Given the description of an element on the screen output the (x, y) to click on. 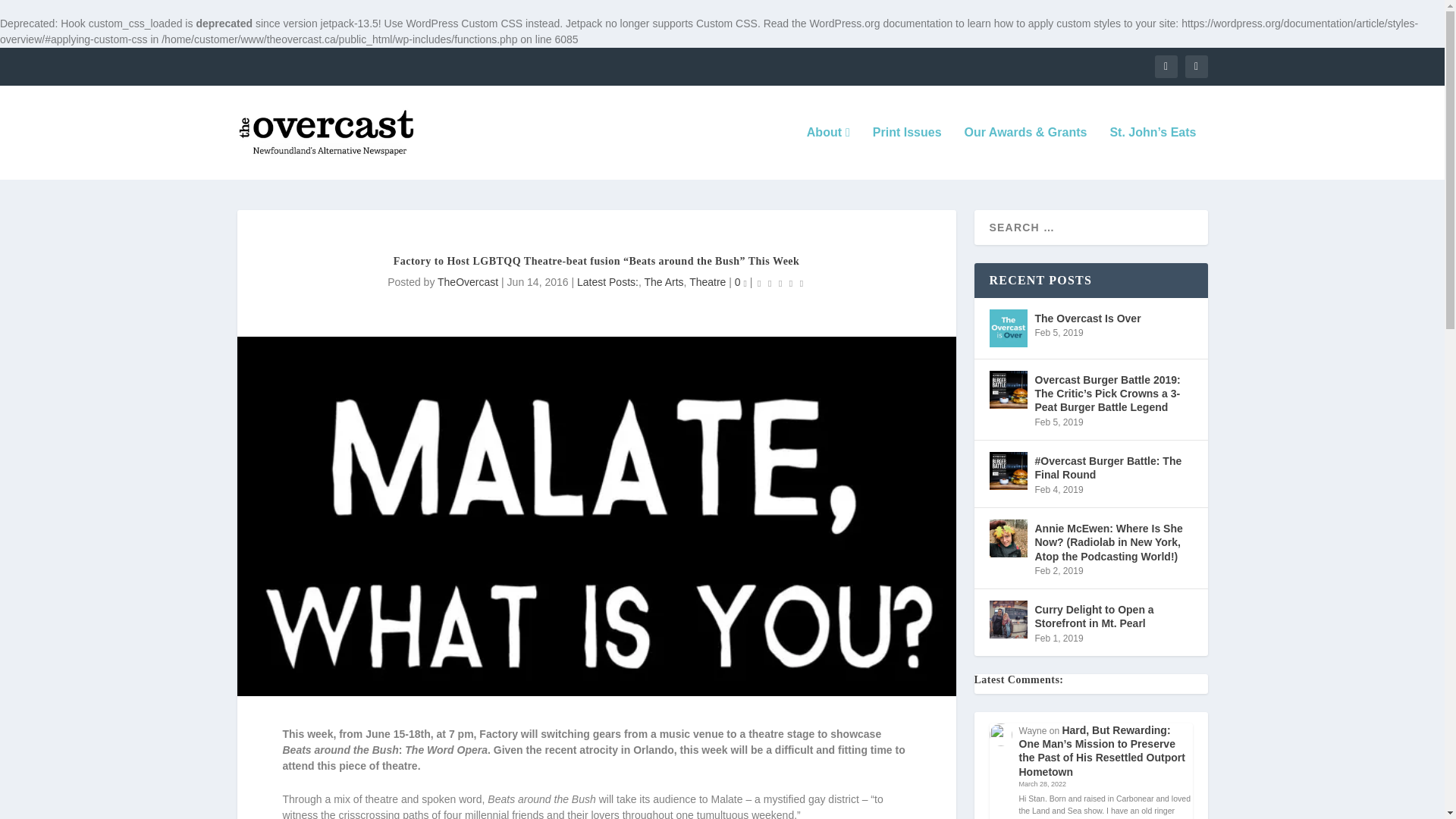
Theatre (706, 282)
Print Issues (907, 152)
Latest Posts: (607, 282)
Posts by TheOvercast (467, 282)
Rating: 0.00 (780, 282)
0 (740, 282)
TheOvercast (467, 282)
The Arts (662, 282)
